Given the description of an element on the screen output the (x, y) to click on. 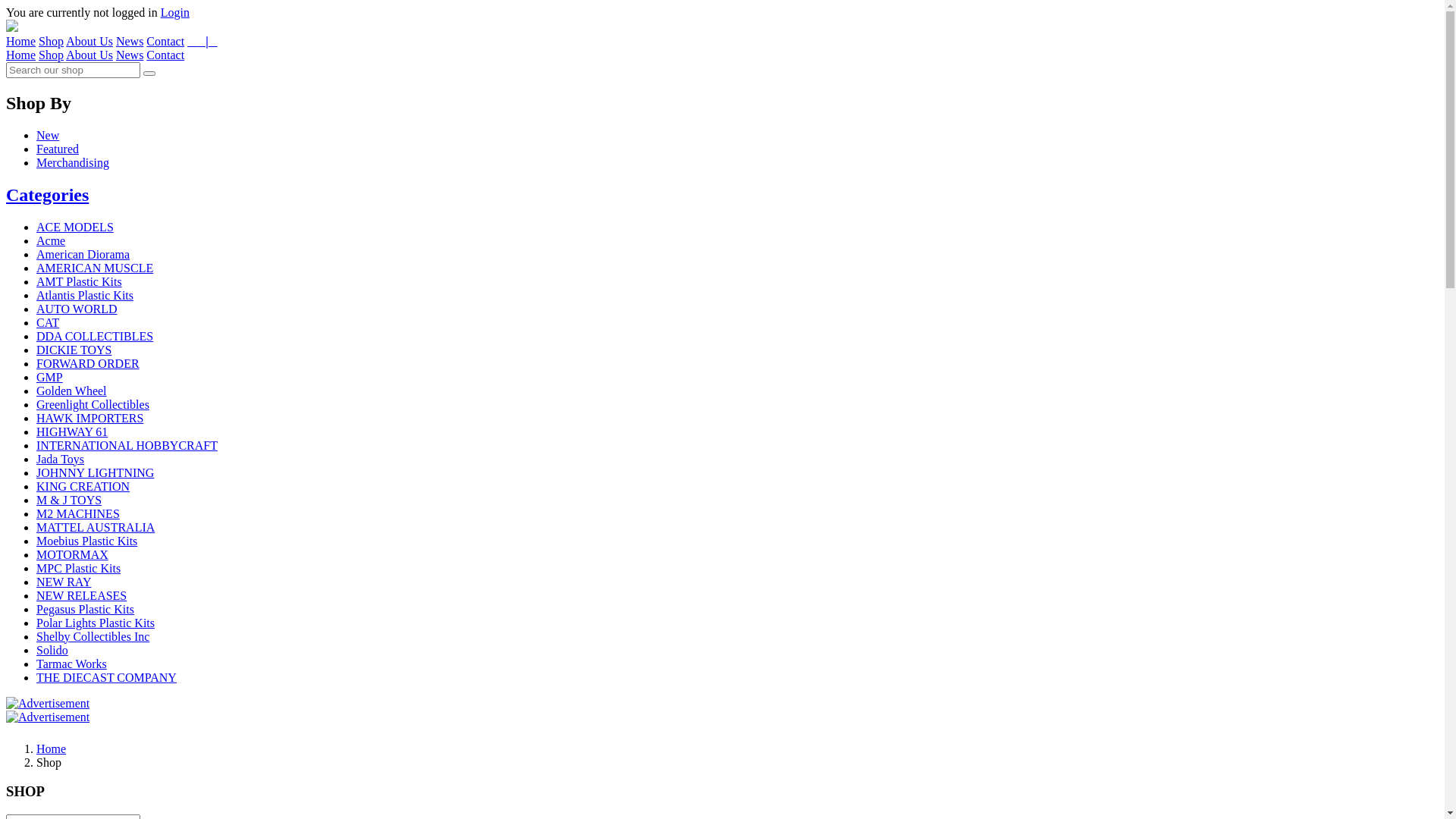
News Element type: text (129, 54)
Featured Element type: text (57, 148)
      |    Element type: text (202, 40)
Pegasus Plastic Kits Element type: text (85, 608)
HAWK IMPORTERS Element type: text (89, 417)
Tarmac Works Element type: text (71, 663)
Categories Element type: text (47, 194)
MPC Plastic Kits Element type: text (78, 567)
GMP Element type: text (49, 376)
NEW RAY Element type: text (63, 581)
AMERICAN MUSCLE Element type: text (94, 267)
M2 MACHINES Element type: text (77, 513)
Contact Element type: text (165, 40)
MATTEL AUSTRALIA Element type: text (95, 526)
Home Element type: text (20, 40)
M & J TOYS Element type: text (68, 499)
About Us Element type: text (88, 54)
Shelby Collectibles Inc Element type: text (92, 636)
THE DIECAST COMPANY Element type: text (106, 677)
Shop Element type: text (50, 40)
ACE MODELS Element type: text (74, 226)
American Diorama Element type: text (82, 253)
Jada Toys Element type: text (60, 458)
Home Element type: text (50, 748)
MOTORMAX Element type: text (72, 554)
INTERNATIONAL HOBBYCRAFT Element type: text (126, 445)
DDA COLLECTIBLES Element type: text (94, 335)
Moebius Plastic Kits Element type: text (86, 540)
AUTO WORLD Element type: text (76, 308)
Merchandising Element type: text (72, 162)
FORWARD ORDER Element type: text (87, 363)
KING CREATION Element type: text (82, 486)
News Element type: text (129, 40)
HIGHWAY 61 Element type: text (71, 431)
Shop Element type: text (50, 54)
Atlantis Plastic Kits Element type: text (84, 294)
New Element type: text (47, 134)
Greenlight Collectibles Element type: text (92, 404)
JOHNNY LIGHTNING Element type: text (94, 472)
DICKIE TOYS Element type: text (73, 349)
Polar Lights Plastic Kits Element type: text (95, 622)
Login Element type: text (174, 12)
About Us Element type: text (88, 40)
Contact Element type: text (165, 54)
Golden Wheel Element type: text (71, 390)
NEW RELEASES Element type: text (81, 595)
CAT Element type: text (47, 322)
AMT Plastic Kits Element type: text (79, 281)
Home Element type: text (20, 54)
Solido Element type: text (52, 649)
Acme Element type: text (50, 240)
